Given the description of an element on the screen output the (x, y) to click on. 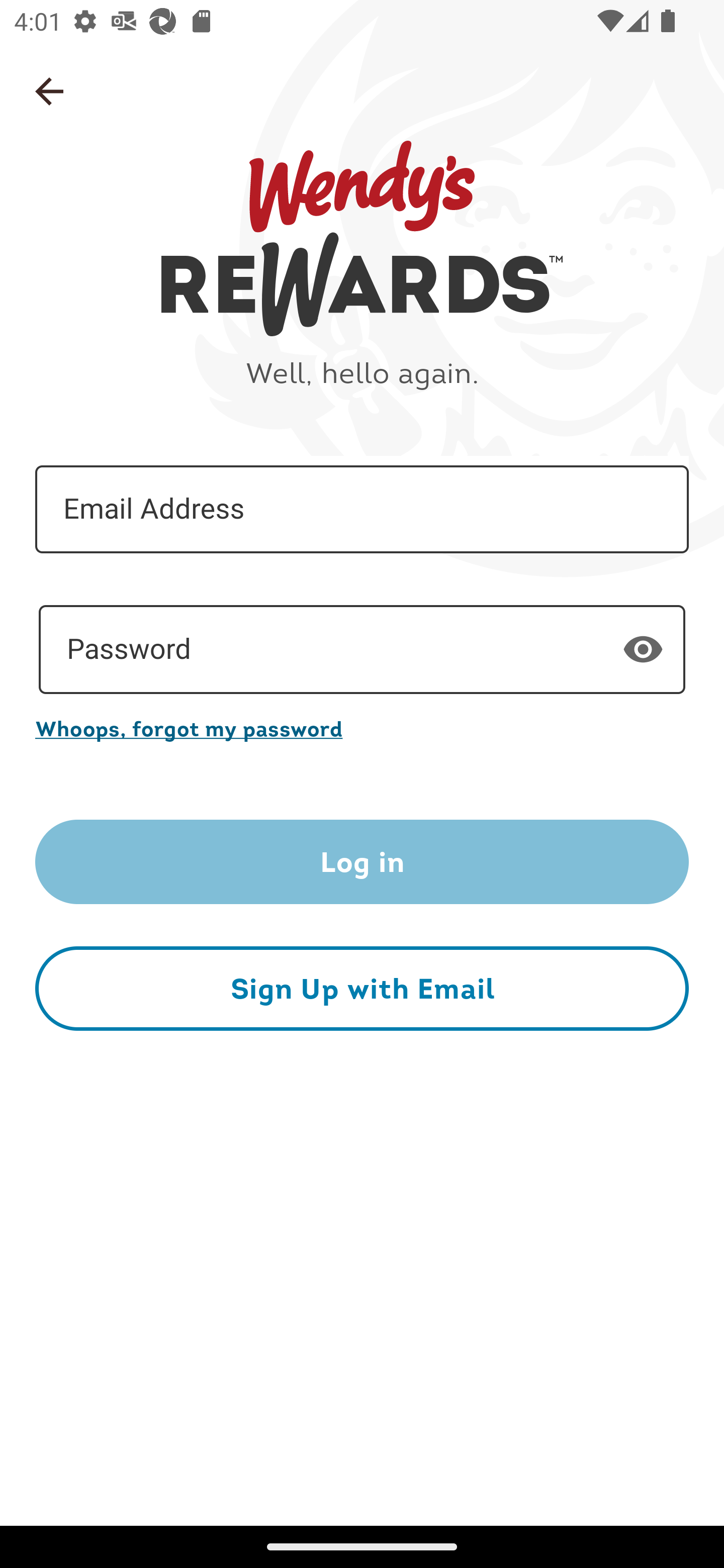
Navigate up (49, 91)
Email Address (361, 509)
Password (361, 649)
Show password (642, 648)
Whoops, forgot my password (361, 728)
Log in (361, 862)
Sign Up with Email (361, 988)
